Given the description of an element on the screen output the (x, y) to click on. 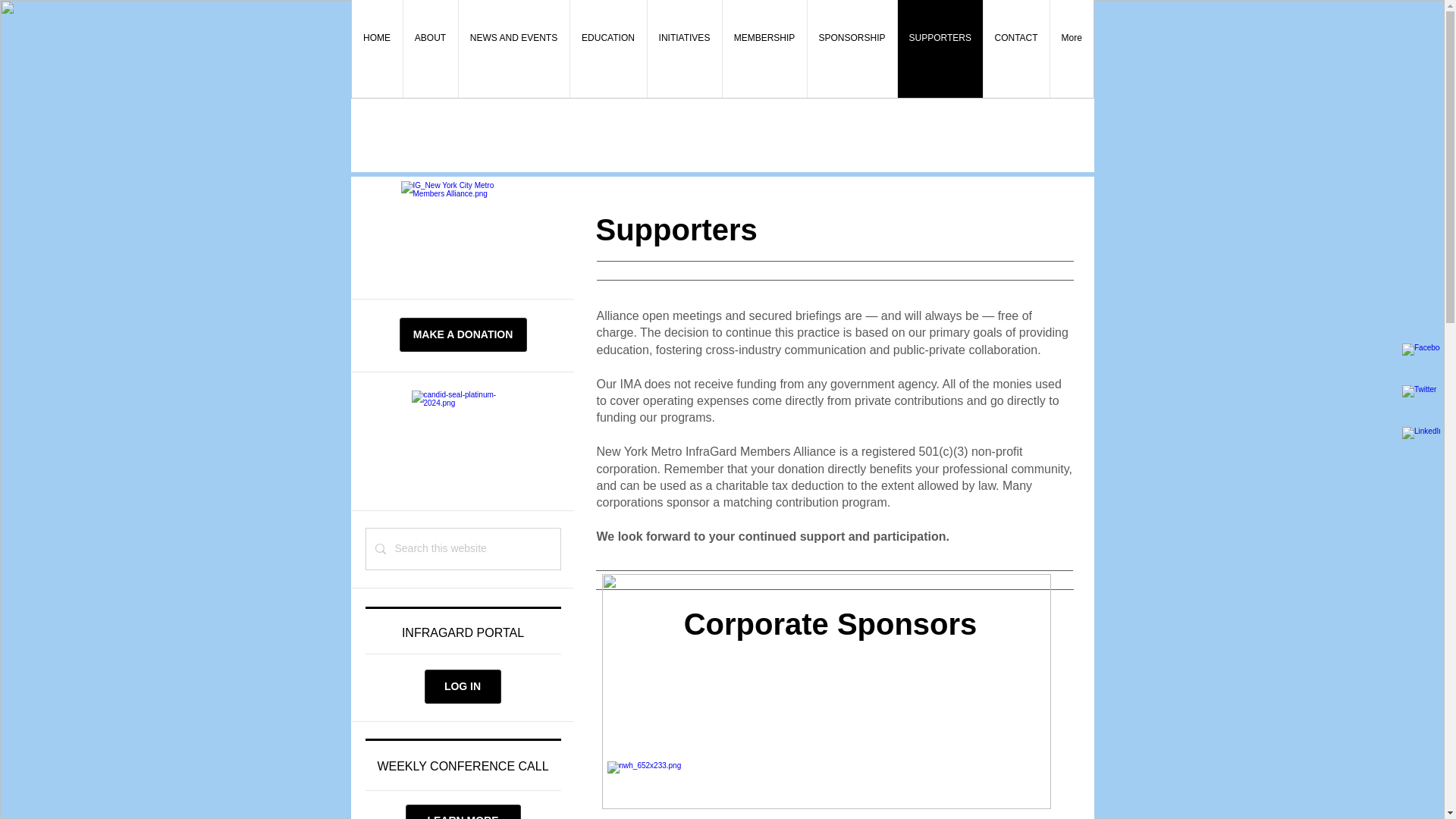
LOG IN (462, 686)
MAKE A DONATION (461, 334)
NEWS AND EVENTS (513, 48)
SPONSORSHIP (851, 48)
LEARN MORE (461, 811)
